Given the description of an element on the screen output the (x, y) to click on. 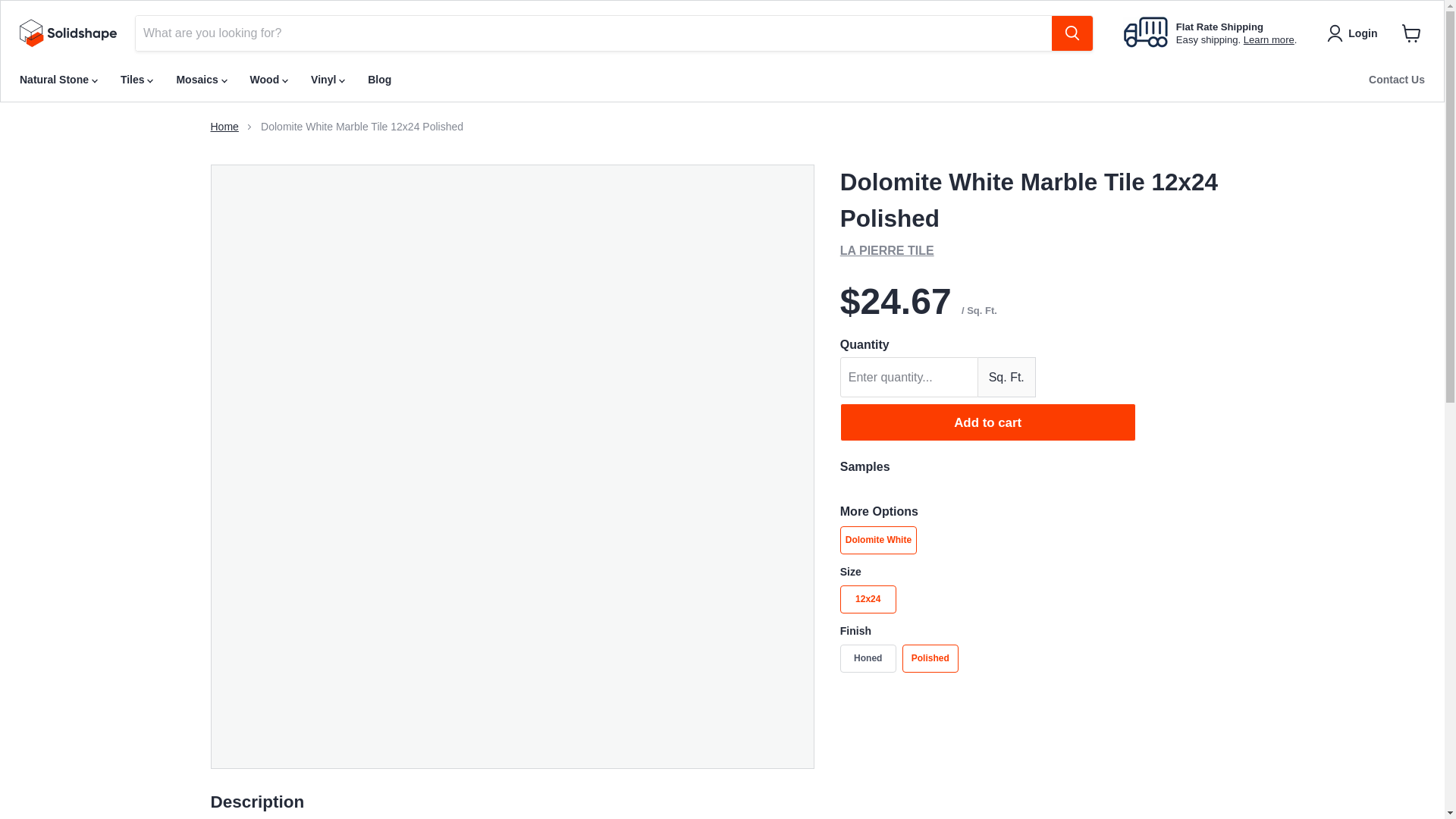
Shipping Policy (1268, 39)
Login (1354, 33)
View cart (1411, 32)
Flat Rate Shipping (1219, 26)
La Pierre Tile (887, 250)
Learn more (1268, 39)
